Given the description of an element on the screen output the (x, y) to click on. 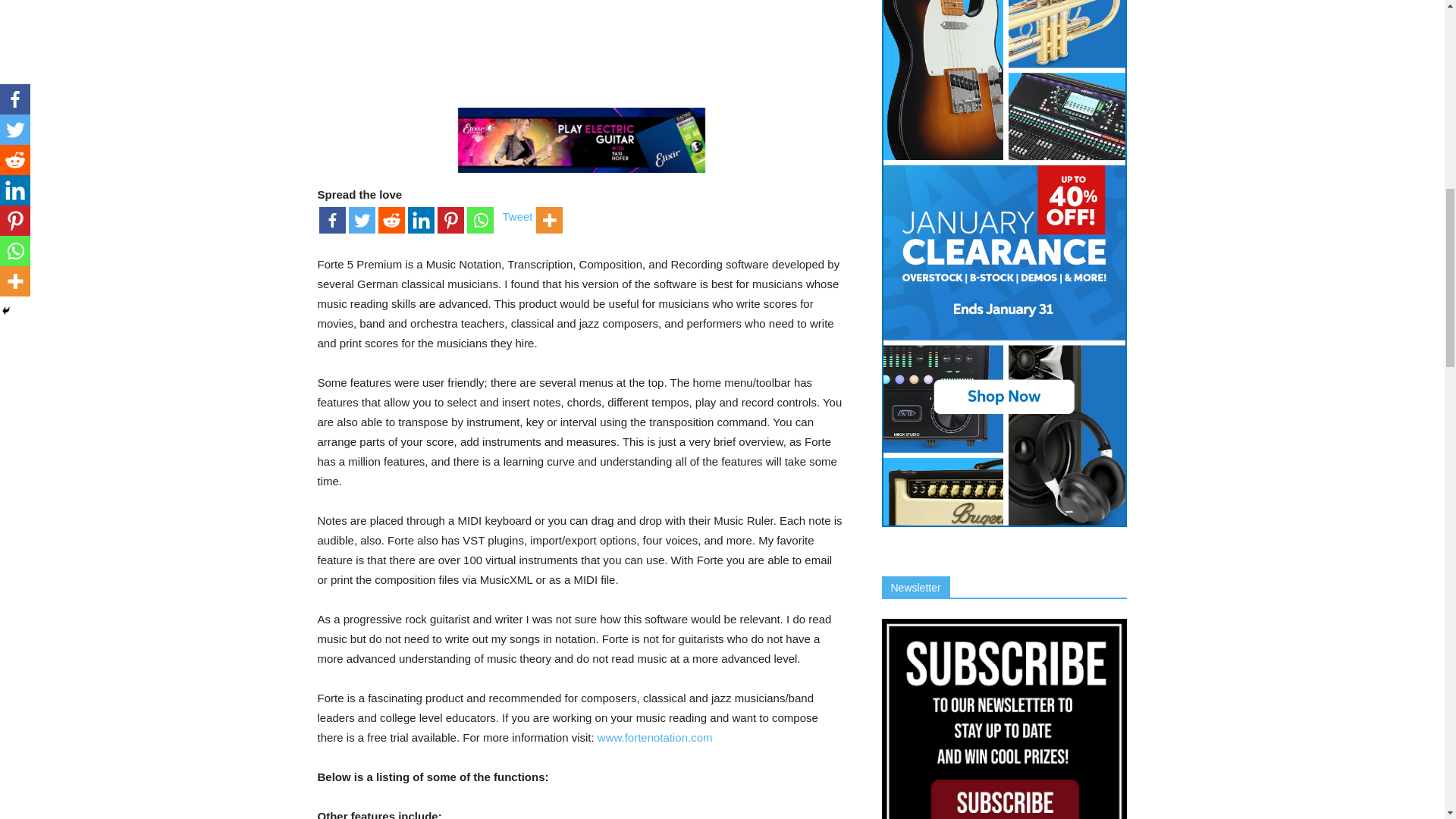
Facebook (331, 220)
Forte 5 Premium Music Software (580, 31)
